Given the description of an element on the screen output the (x, y) to click on. 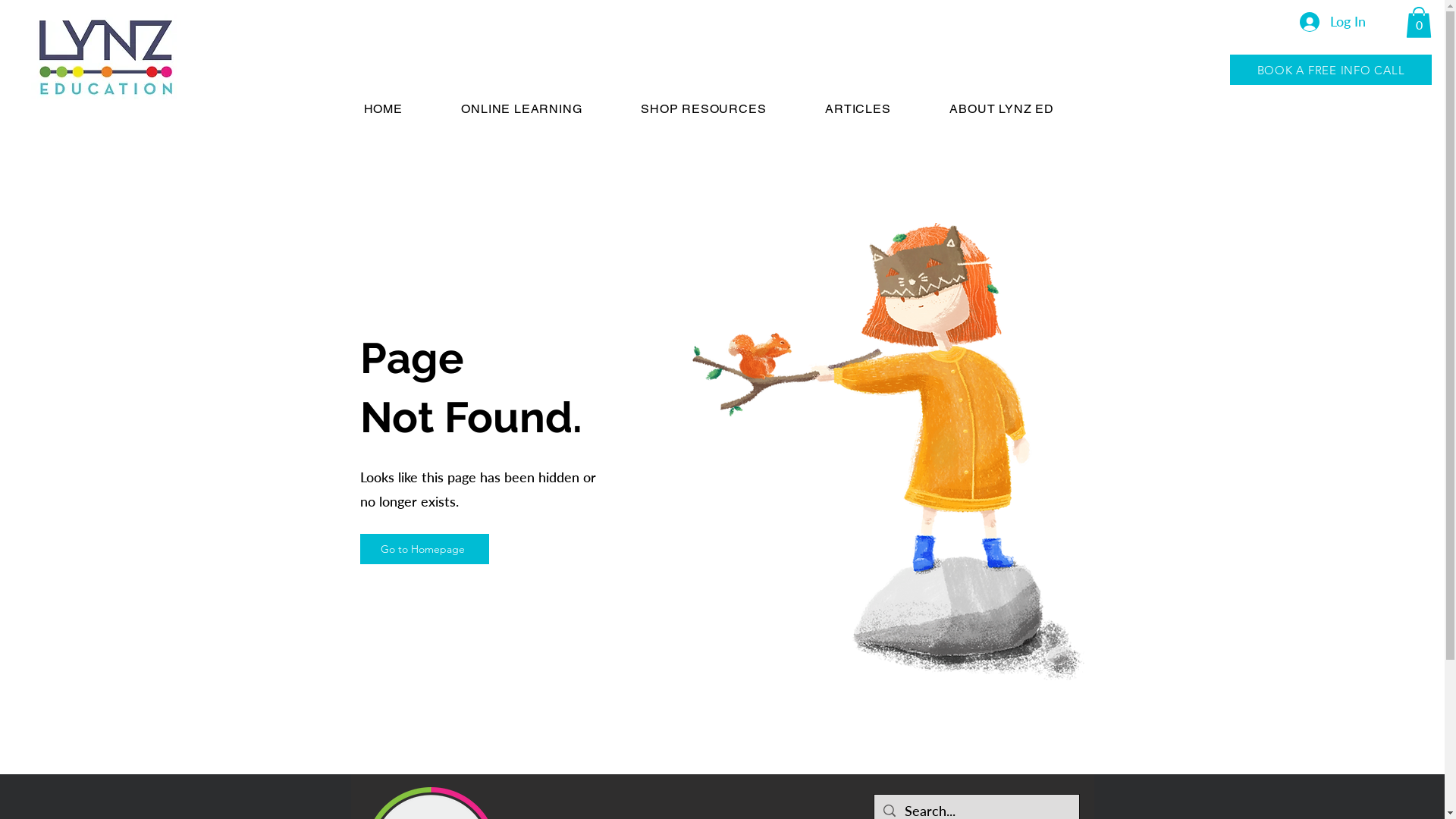
0 Element type: text (1418, 21)
SHOP RESOURCES Element type: text (722, 108)
ARTICLES Element type: text (876, 108)
Log In Element type: text (1332, 21)
ABOUT LYNZ ED Element type: text (1019, 108)
HOME Element type: text (402, 108)
BOOK A FREE INFO CALL Element type: text (1330, 69)
Go to Homepage Element type: text (423, 548)
ONLINE LEARNING Element type: text (540, 108)
